Given the description of an element on the screen output the (x, y) to click on. 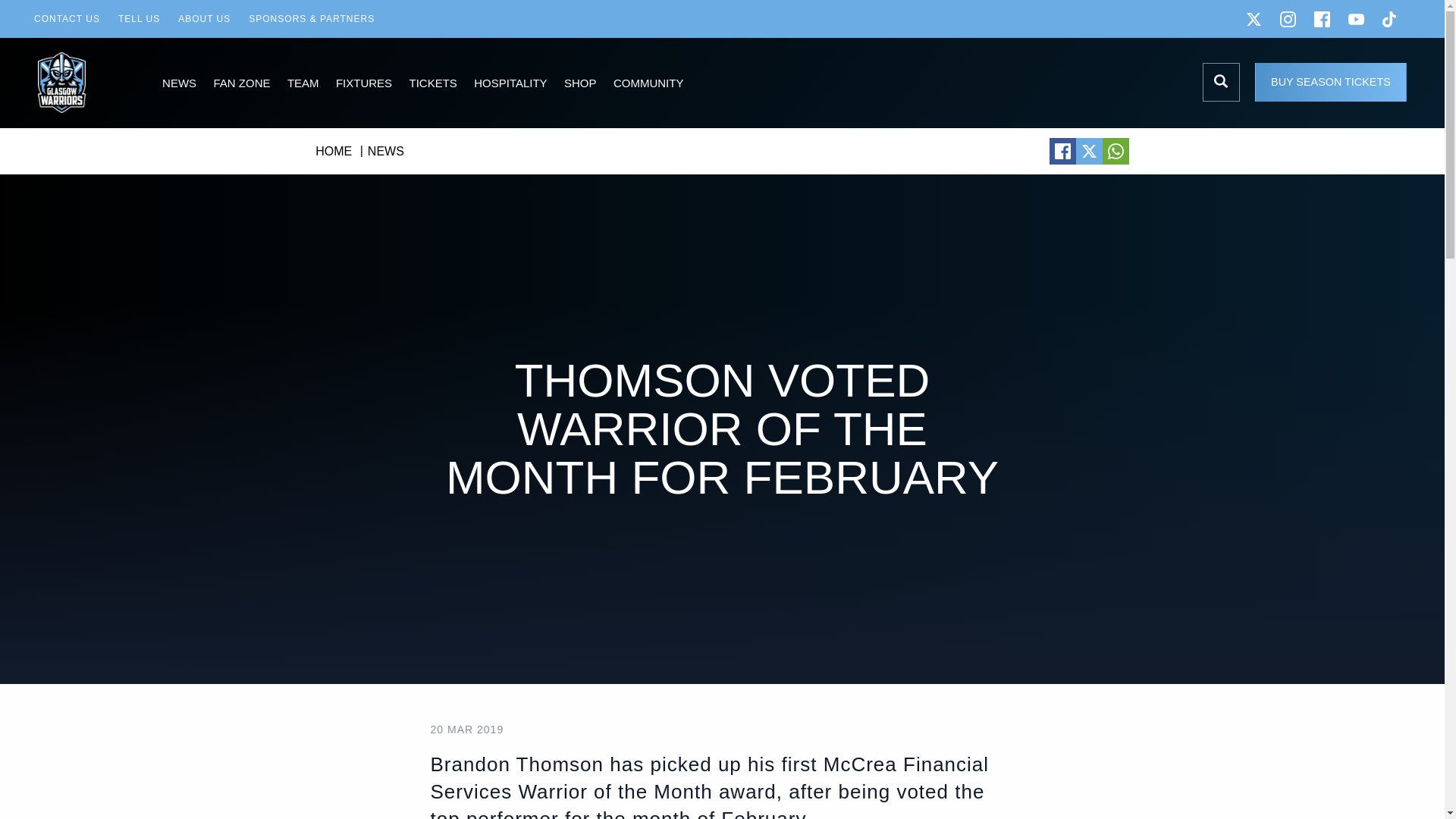
BUY SEASON TICKETS (1330, 82)
HOSPITALITY (510, 83)
NEWS (386, 151)
NEWS (179, 83)
Home (84, 82)
ABOUT US (204, 18)
TICKETS (432, 83)
CONTACT US (66, 18)
FIXTURES (364, 83)
HOME (333, 151)
